Given the description of an element on the screen output the (x, y) to click on. 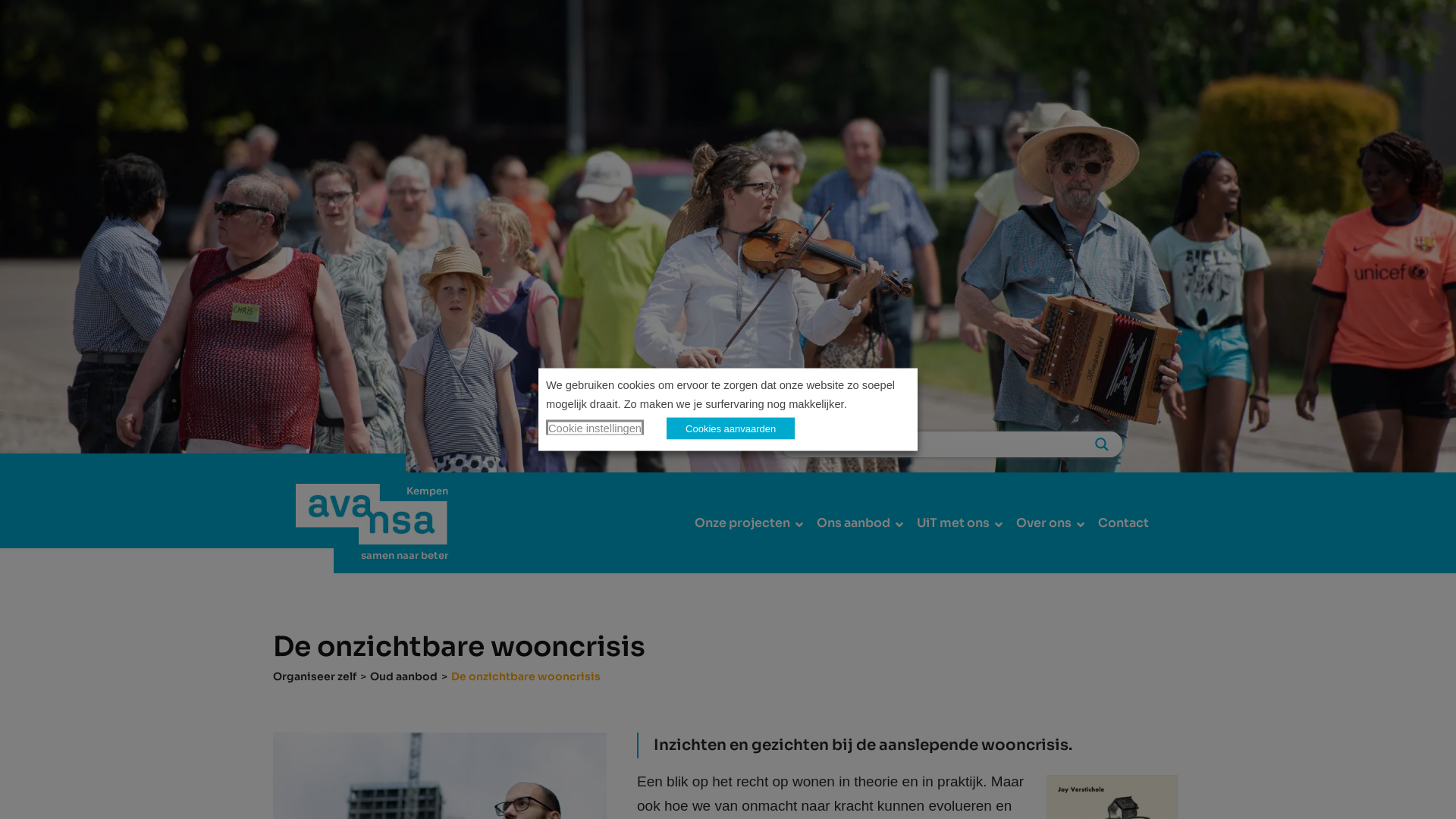
Onze projecten Element type: text (744, 522)
Cookie instellingen Element type: text (594, 426)
Over ons Element type: text (1045, 522)
Avansa Kempen Element type: hover (371, 513)
Oud aanbod Element type: text (403, 676)
Contact Element type: text (1122, 522)
UiT met ons Element type: text (954, 522)
Cookies aanvaarden Element type: text (730, 428)
Organiseer zelf Element type: text (314, 676)
De onzichtbare wooncrisis Element type: text (525, 676)
Ons aanbod Element type: text (855, 522)
